Given the description of an element on the screen output the (x, y) to click on. 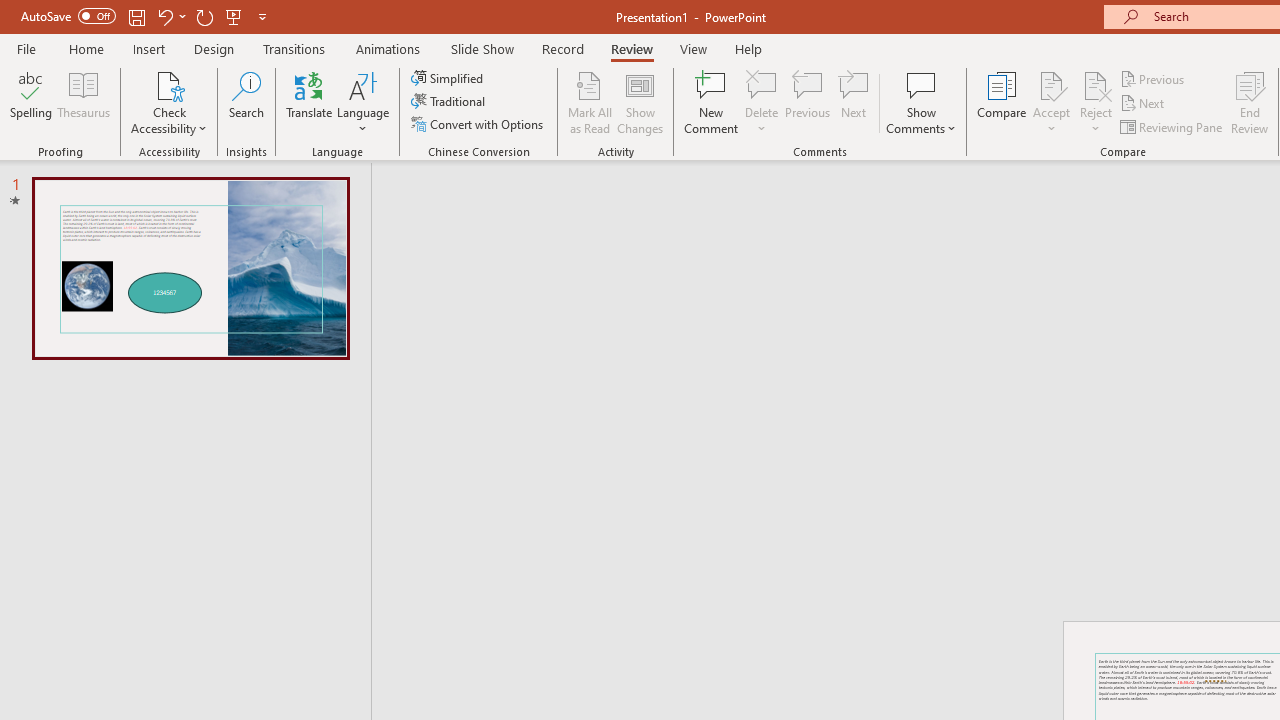
Convert with Options... (479, 124)
Save (136, 15)
Spelling... (31, 102)
Delete (762, 102)
